Given the description of an element on the screen output the (x, y) to click on. 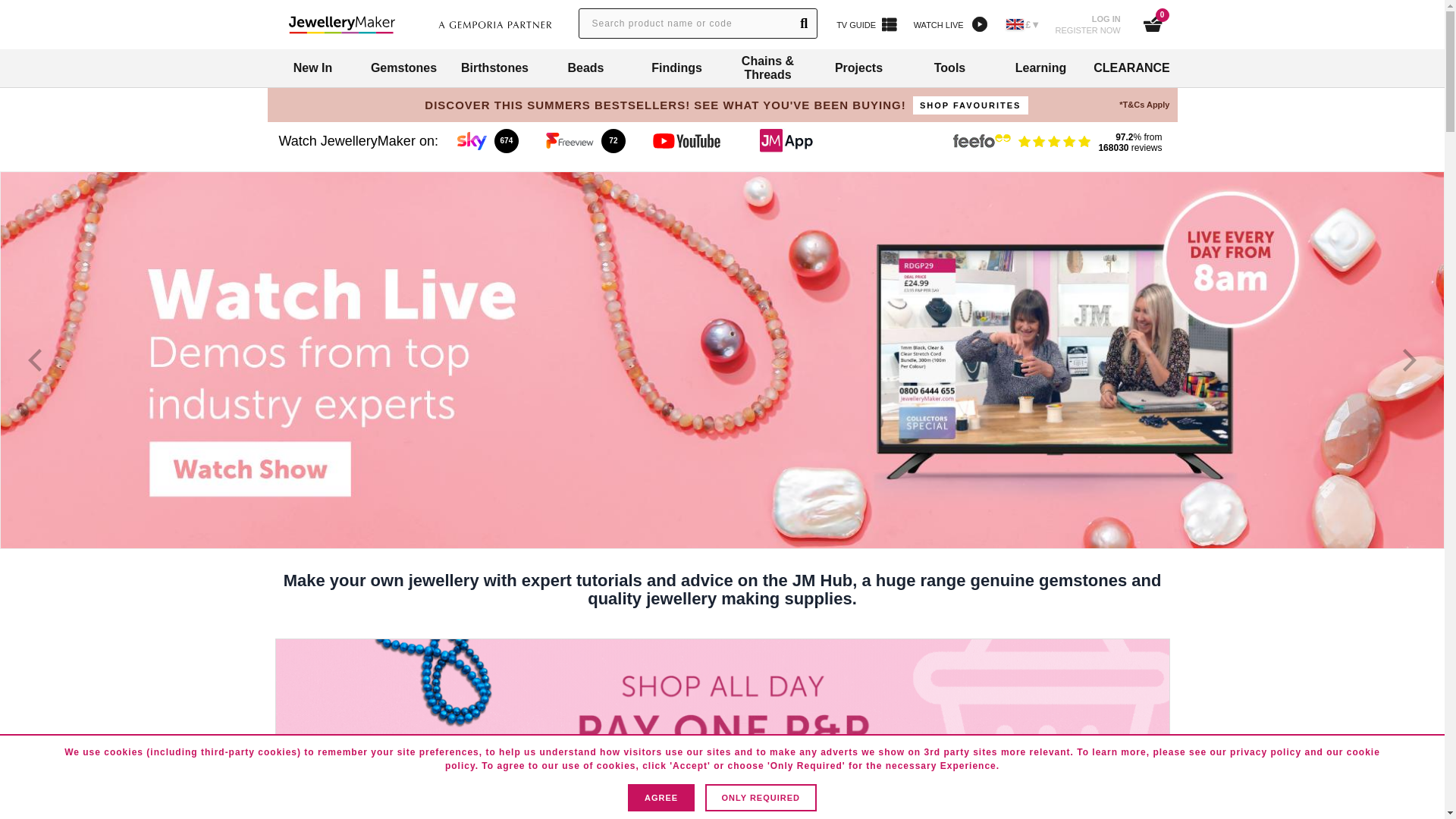
TV GUIDE (866, 24)
Jewellery Making Supplies UK (342, 24)
New In (1088, 24)
ONLY REQUIRED (312, 67)
AGREE (760, 797)
WATCH LIVE (660, 797)
0 (949, 24)
Gemstones (1151, 24)
